Given the description of an element on the screen output the (x, y) to click on. 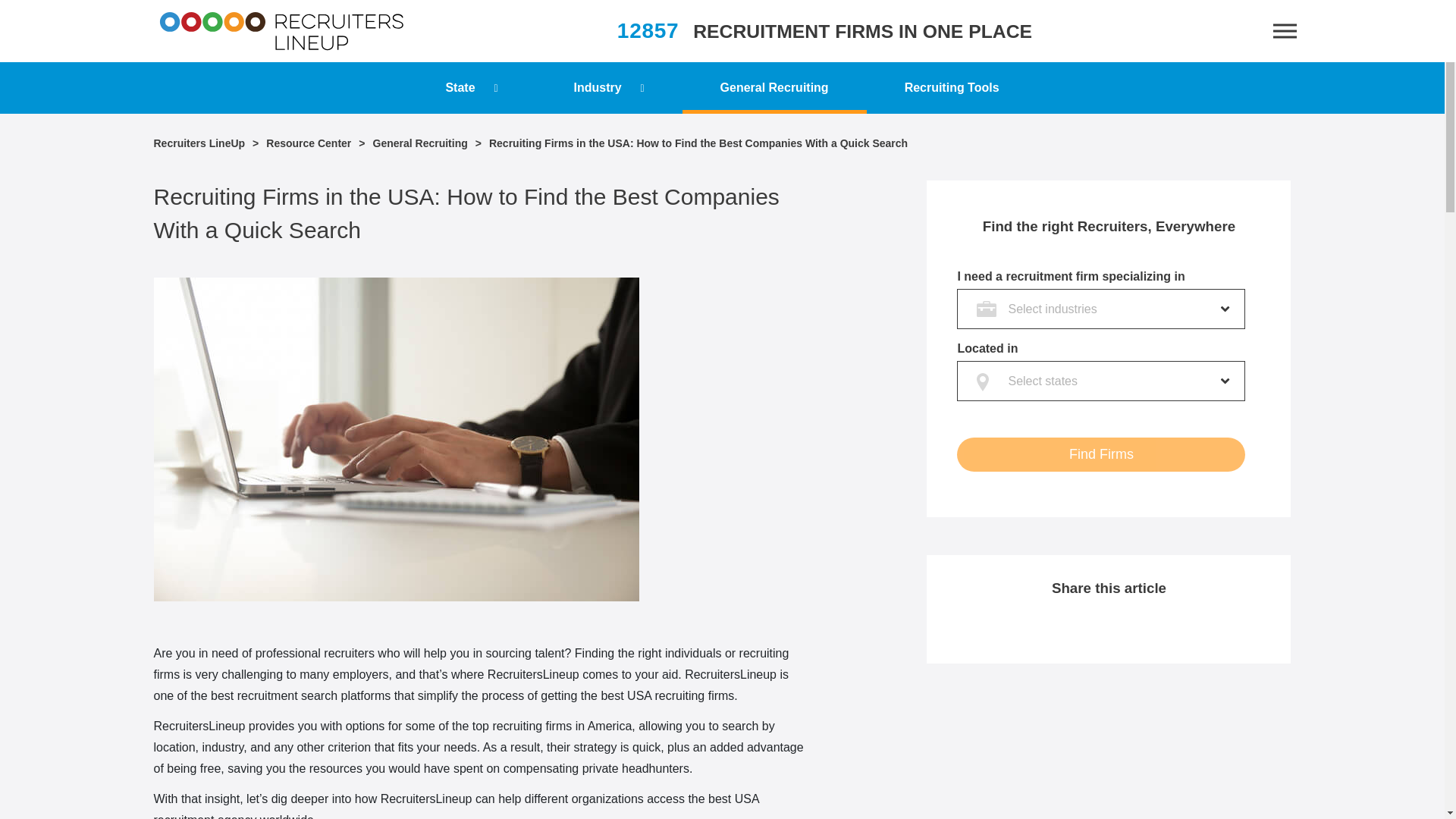
State (471, 87)
Recruiters LineUp (281, 30)
Recruiters LineUp (281, 30)
Recruiters LineUp (198, 142)
